Given the description of an element on the screen output the (x, y) to click on. 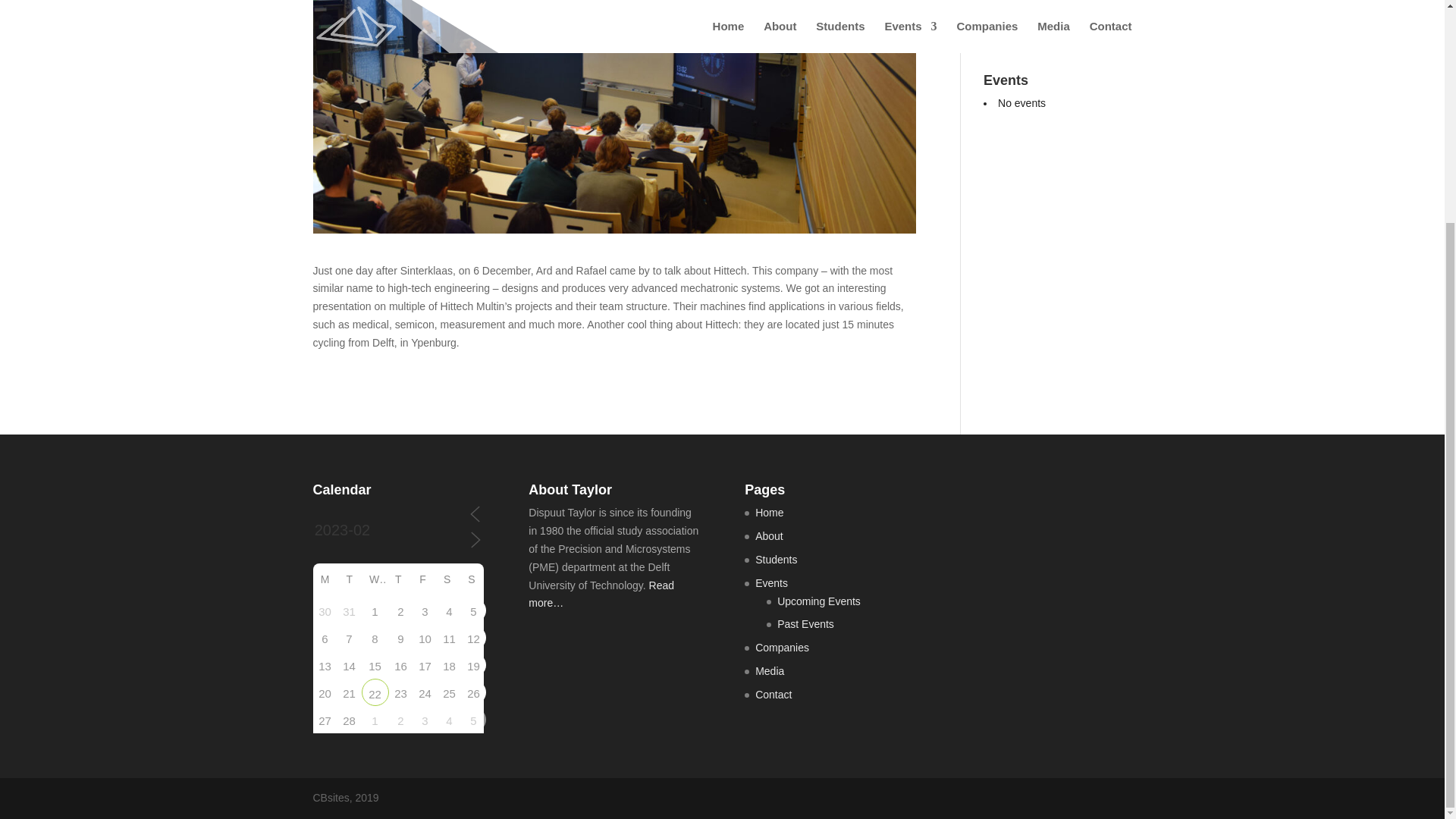
Lunch Lecture ACE (374, 692)
Lunch Lecture ACE (1045, 11)
22 (1045, 11)
22 (374, 692)
2023-02 (389, 529)
